Given the description of an element on the screen output the (x, y) to click on. 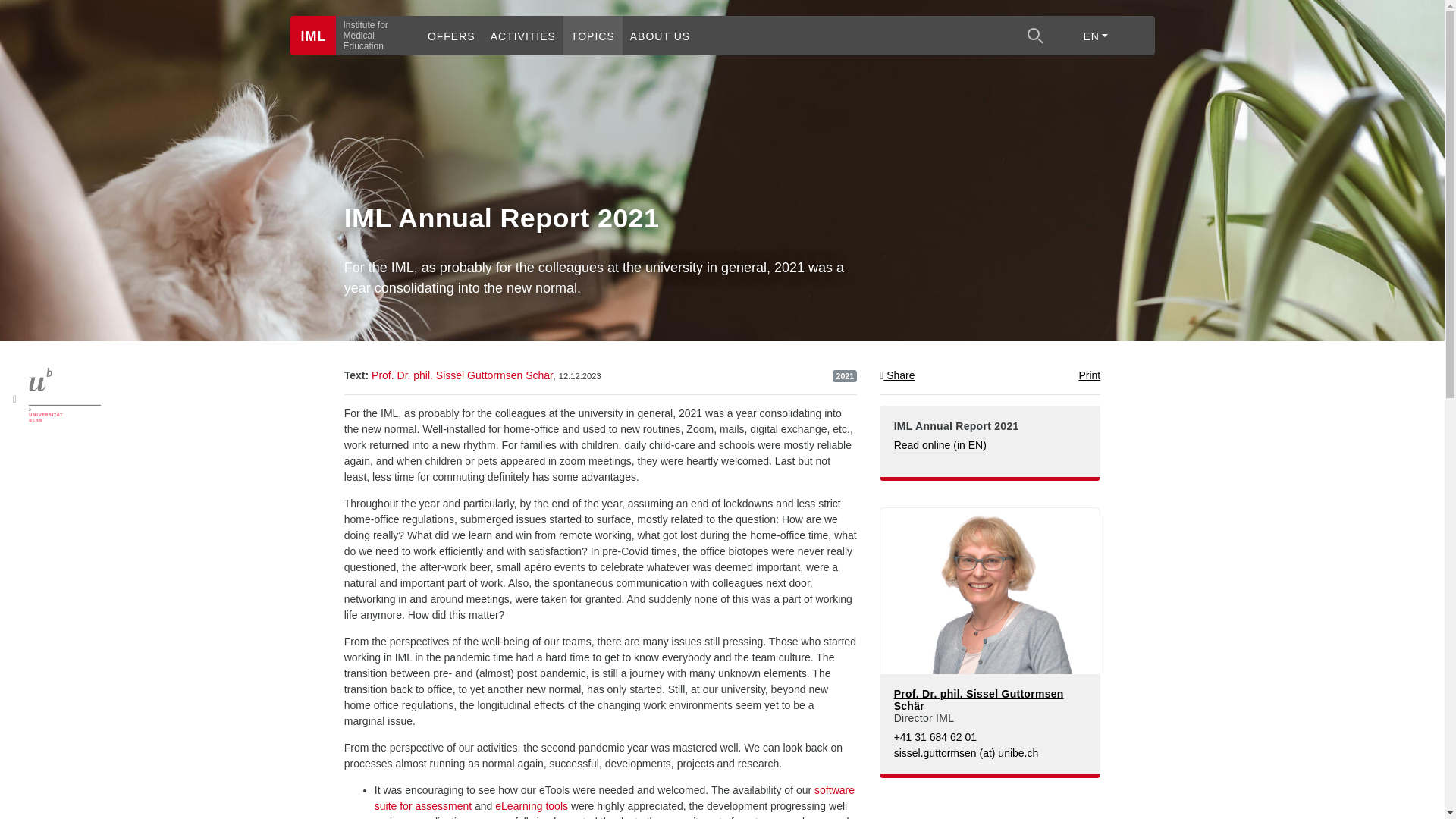
IML (311, 35)
Search (1035, 35)
TOPICS (593, 35)
EN (1095, 35)
ABOUT US (660, 35)
ACTIVITIES (523, 35)
PORTAL UNIBE (53, 394)
Search (1035, 35)
OFFERS (451, 35)
